Given the description of an element on the screen output the (x, y) to click on. 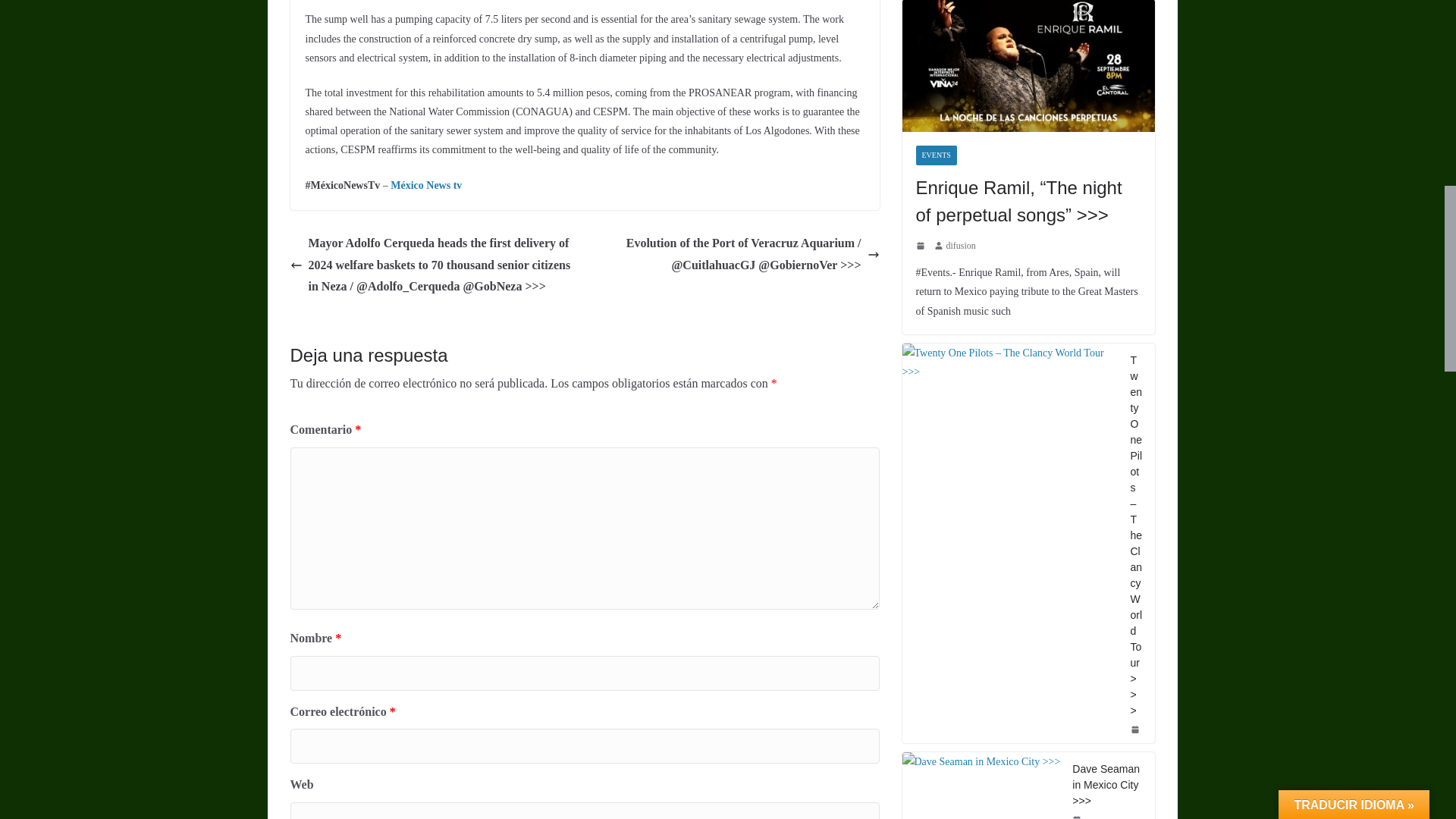
difusion (960, 246)
EVENTS (935, 155)
difusion (960, 246)
